Given the description of an element on the screen output the (x, y) to click on. 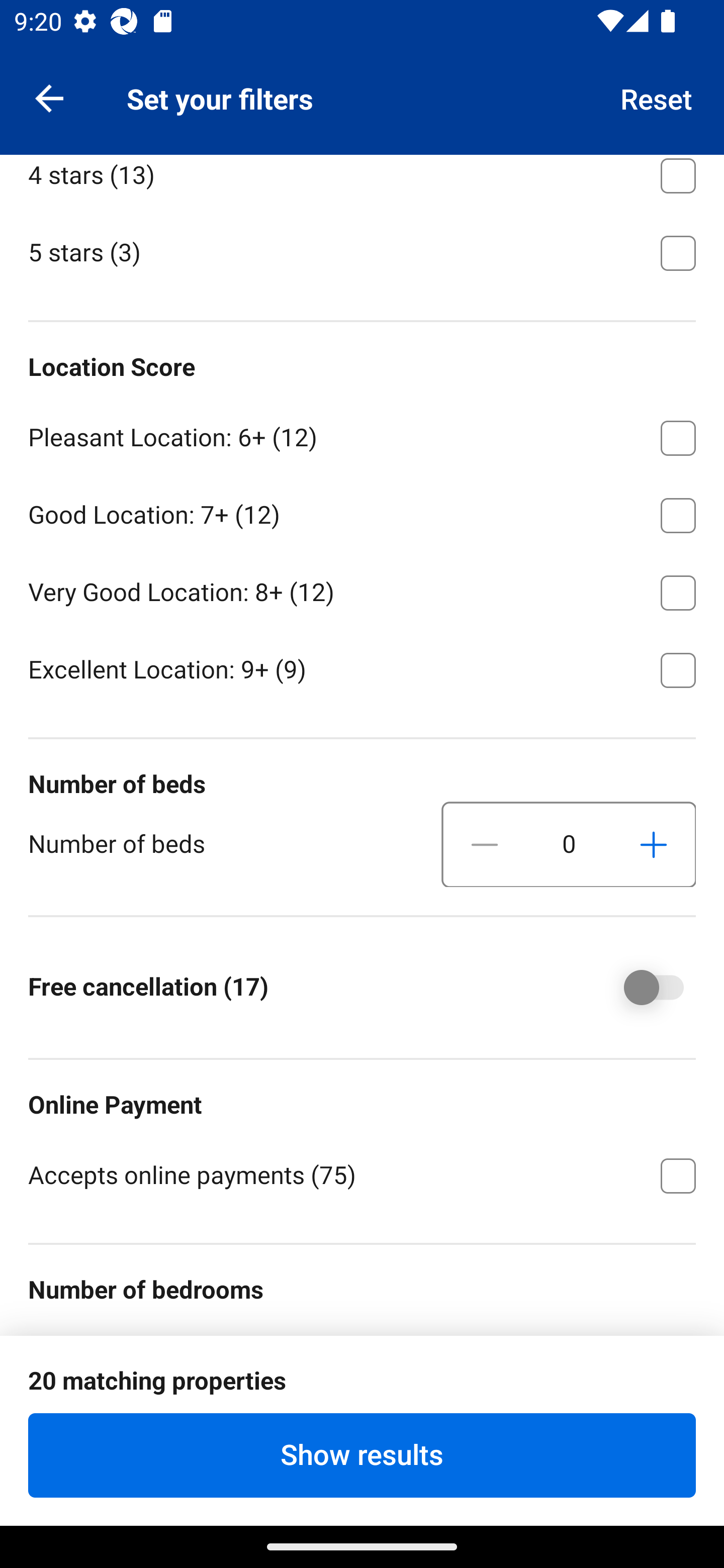
Navigate up (49, 97)
3 stars ⁦(1) (361, 94)
Reset (656, 97)
4 stars ⁦(13) (361, 183)
5 stars ⁦(3) (361, 251)
Pleasant Location: 6+ ⁦(12) (361, 434)
Good Location: 7+ ⁦(12) (361, 511)
Very Good Location: 8+ ⁦(12) (361, 589)
Excellent Location: 9+ ⁦(9) (361, 668)
Decrease (484, 844)
Increase (653, 844)
Free cancellation ⁦(17) (639, 987)
Accepts online payments ⁦(75) (361, 1174)
Show results (361, 1454)
